Given the description of an element on the screen output the (x, y) to click on. 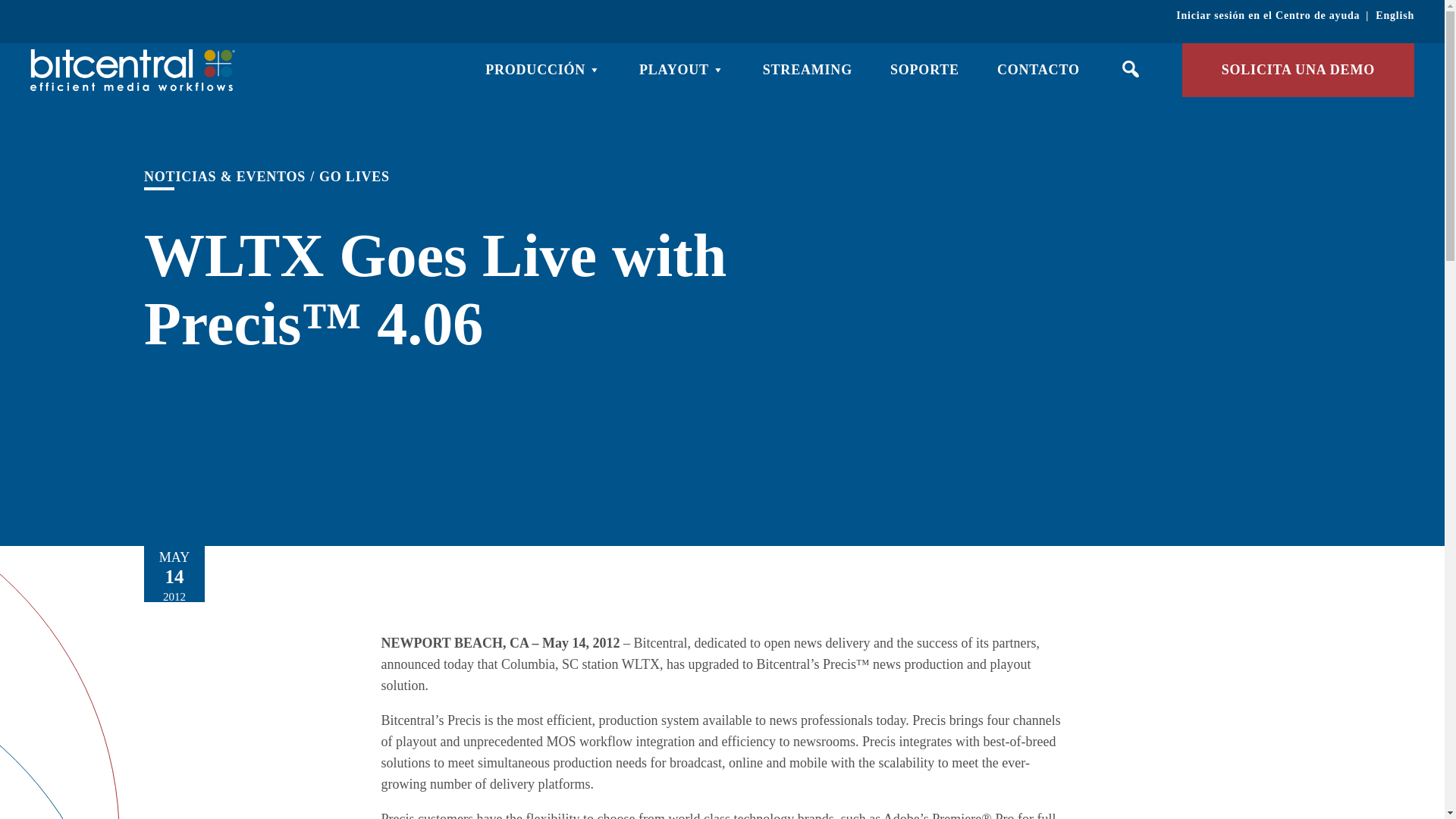
SOPORTE (924, 70)
CONTACTO (1038, 70)
English (1394, 15)
GO LIVES (354, 177)
STREAMING (806, 70)
SOLICITA UNA DEMO (1297, 70)
PLAYOUT (682, 70)
